Given the description of an element on the screen output the (x, y) to click on. 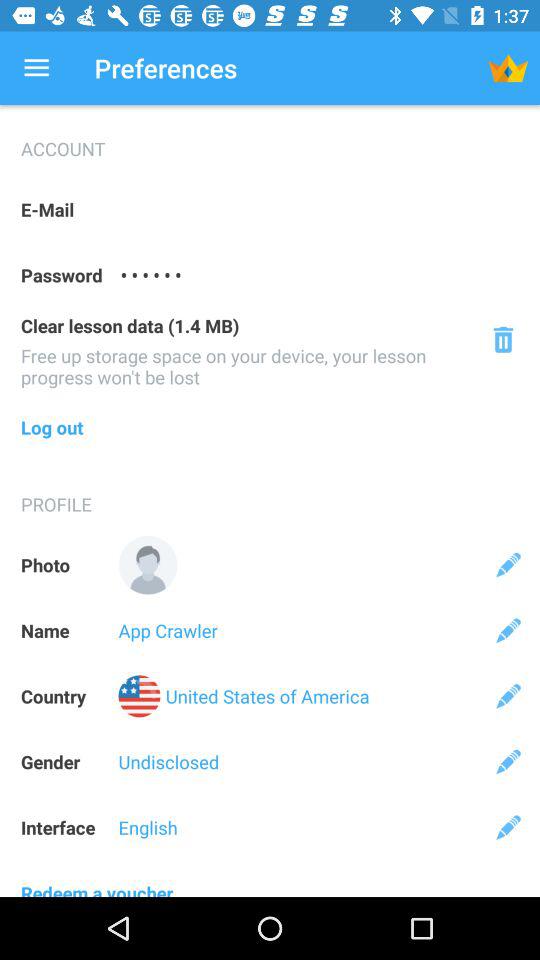
edit name (508, 630)
